Given the description of an element on the screen output the (x, y) to click on. 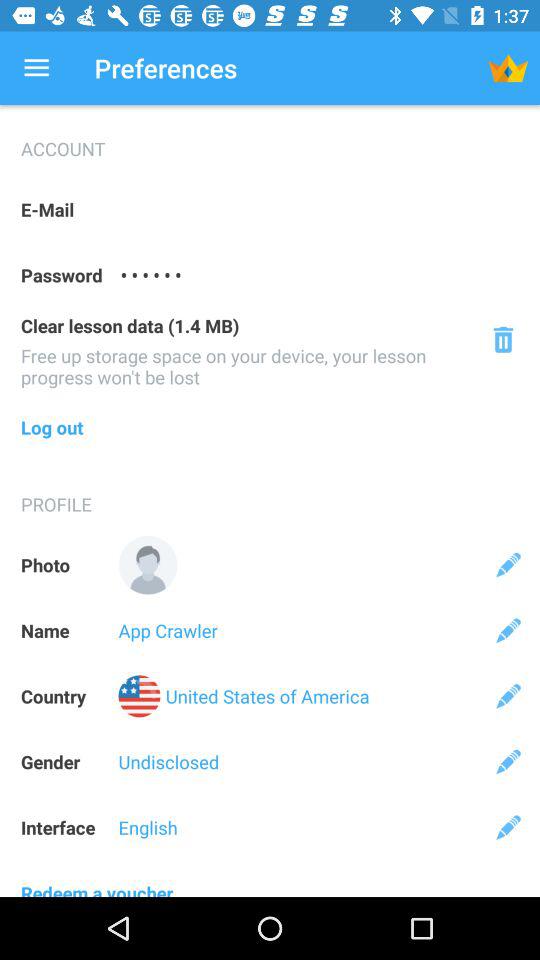
edit name (508, 630)
